Given the description of an element on the screen output the (x, y) to click on. 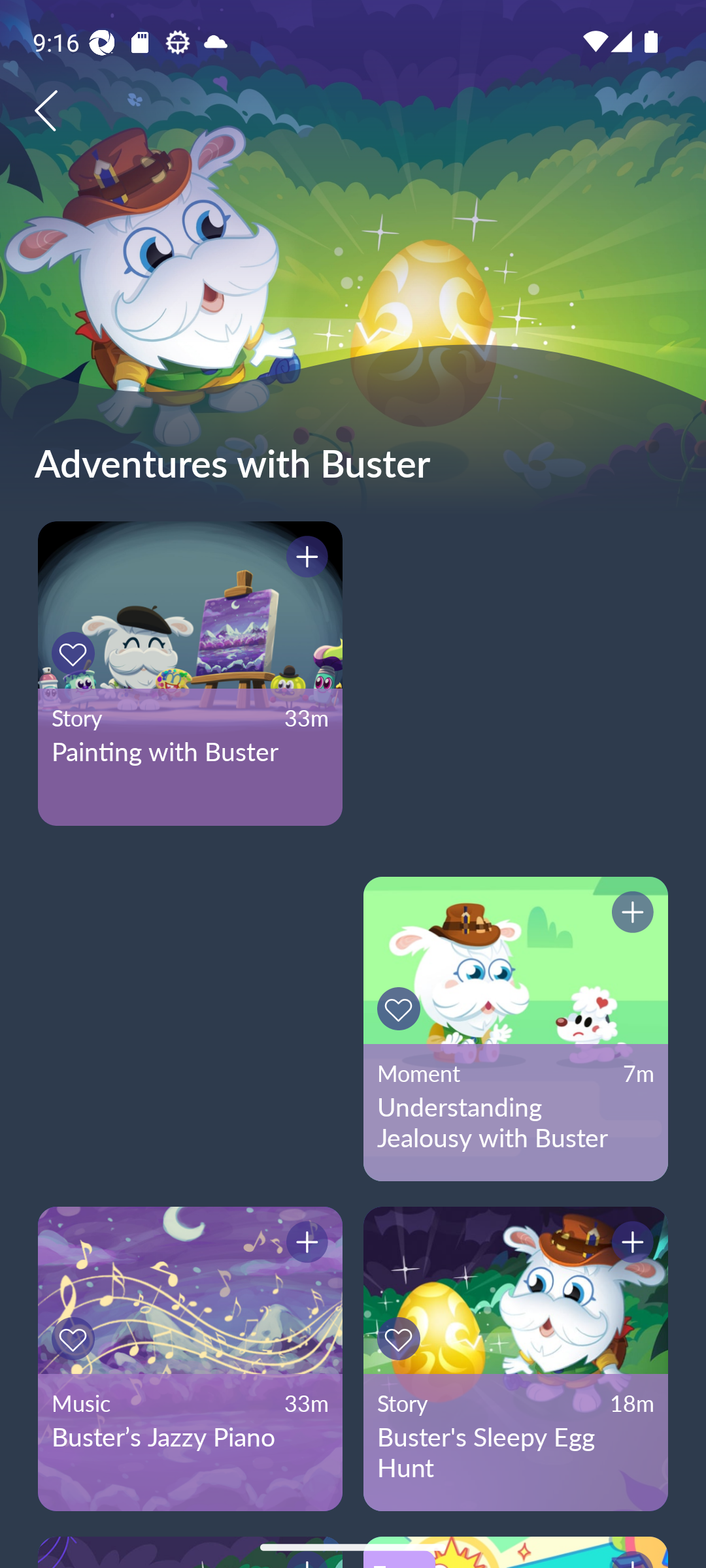
Button (304, 558)
Button (76, 652)
Button (629, 914)
Button (401, 1008)
Button (304, 1244)
Button (629, 1244)
Button (76, 1338)
Button (401, 1338)
